Given the description of an element on the screen output the (x, y) to click on. 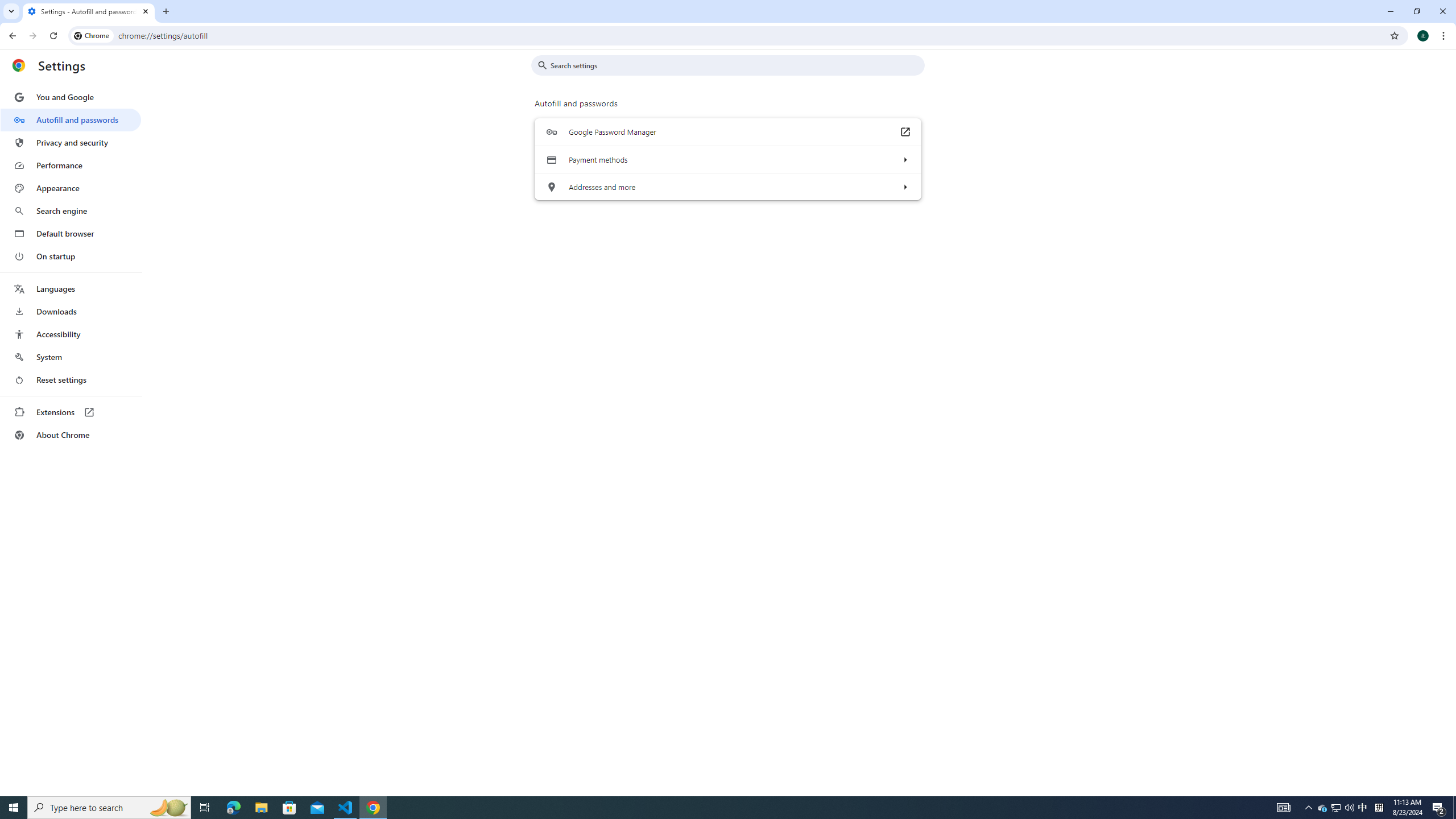
Payment methods (904, 158)
Search engine (70, 210)
Autofill and passwords (70, 119)
Default browser (70, 233)
Performance (70, 164)
